Given the description of an element on the screen output the (x, y) to click on. 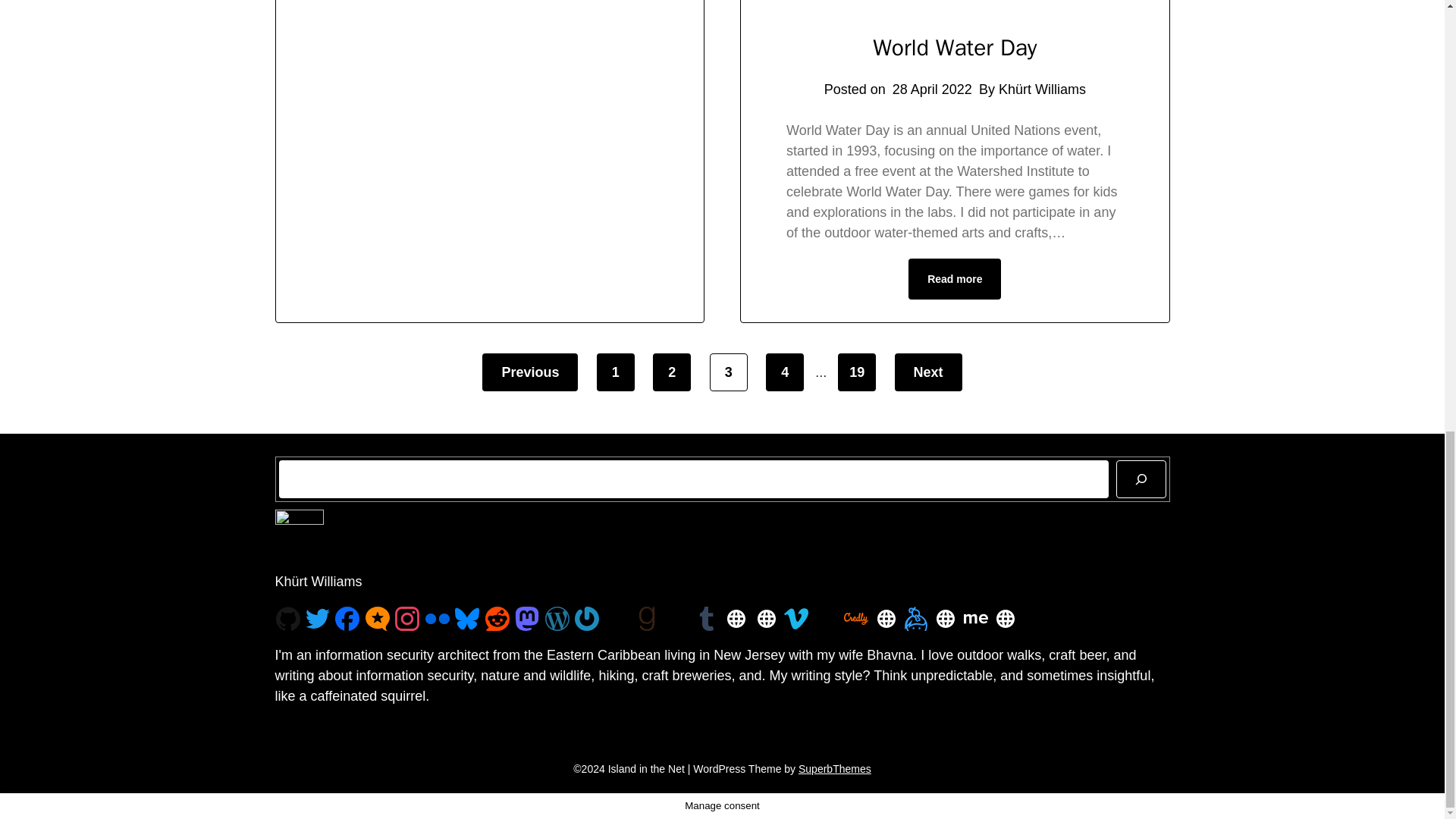
Gravatar (586, 618)
World Water Day (954, 47)
Mastodon (526, 618)
Reddit (496, 618)
Goodreads (646, 618)
Next (928, 371)
19 (857, 371)
VSCO (675, 618)
Threads (825, 618)
Twitter (317, 618)
